Given the description of an element on the screen output the (x, y) to click on. 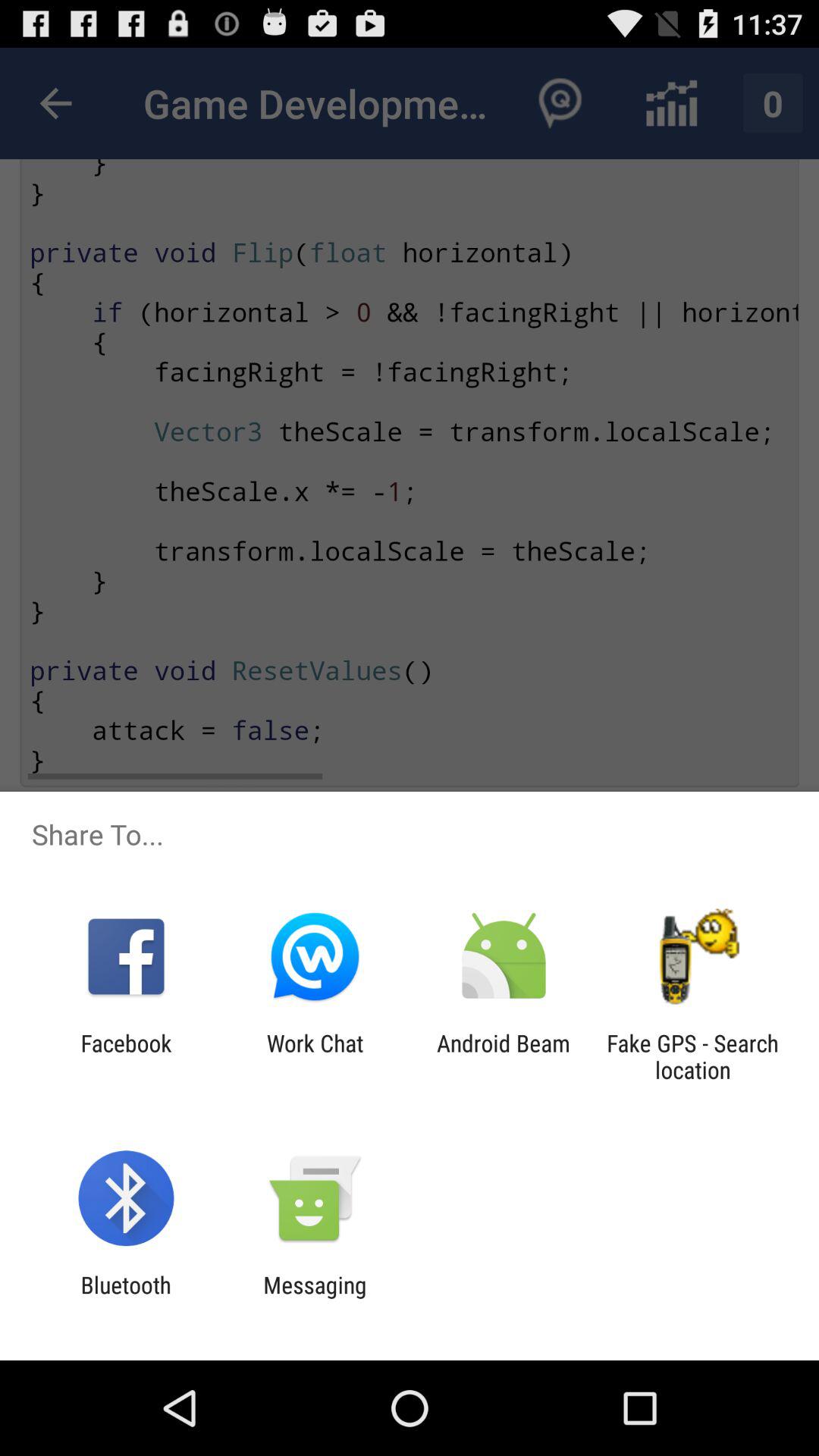
turn off the icon to the right of work chat item (503, 1056)
